Given the description of an element on the screen output the (x, y) to click on. 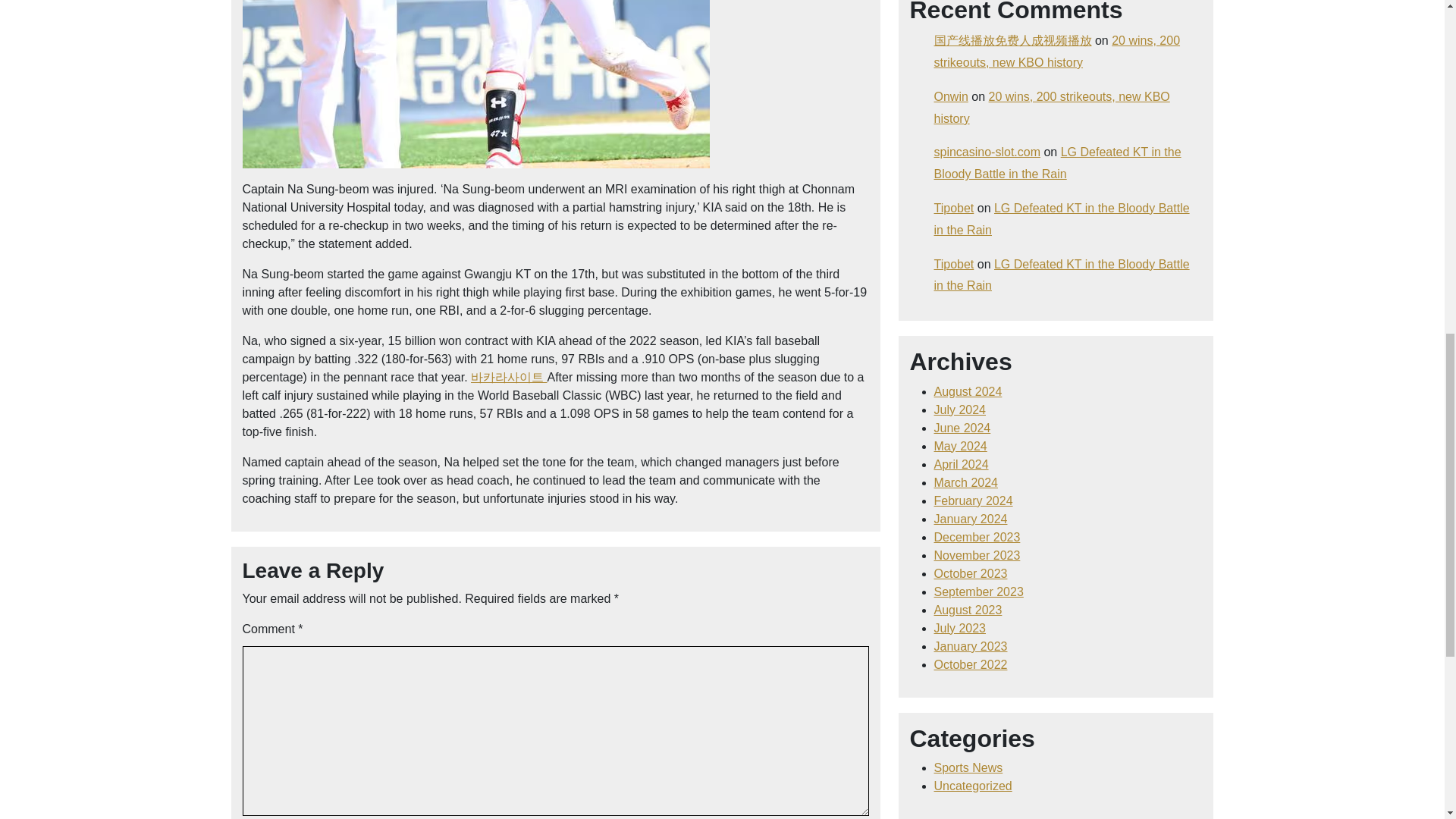
Tipobet (954, 207)
April 2024 (961, 463)
November 2023 (977, 554)
20 wins, 200 strikeouts, new KBO history (1052, 107)
September 2023 (978, 591)
20 wins, 200 strikeouts, new KBO history (1057, 51)
August 2024 (968, 391)
LG Defeated KT in the Bloody Battle in the Rain (1061, 274)
March 2024 (966, 481)
July 2024 (960, 409)
January 2024 (970, 518)
May 2024 (960, 445)
February 2024 (973, 500)
October 2023 (970, 573)
Onwin (951, 96)
